Given the description of an element on the screen output the (x, y) to click on. 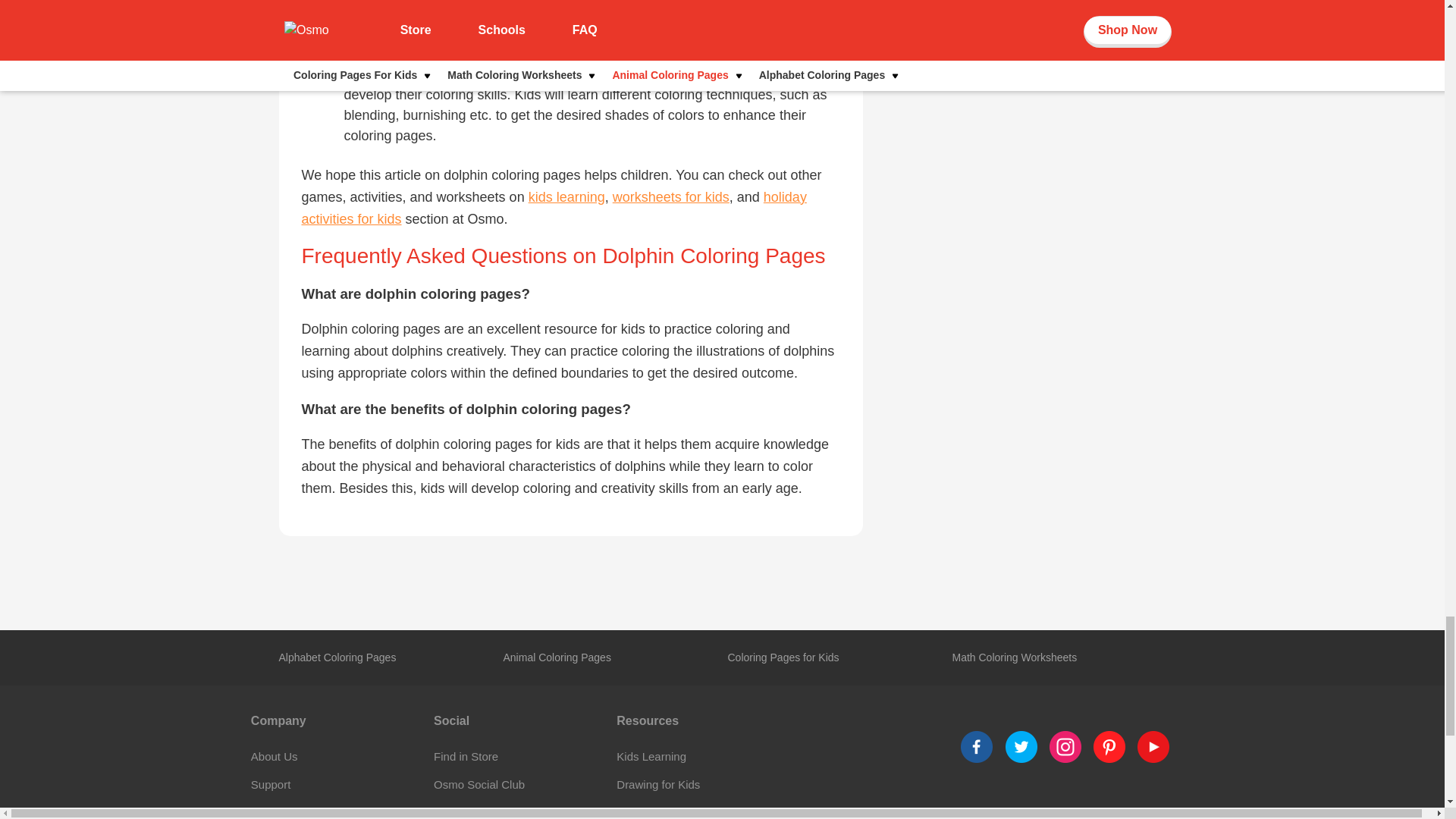
Join the party on Facebook (1153, 746)
Join the party on Facebook (1065, 746)
Join the party on Facebook (976, 746)
Join the party on Facebook (1109, 746)
Join the party on Facebook (1021, 746)
